Given the description of an element on the screen output the (x, y) to click on. 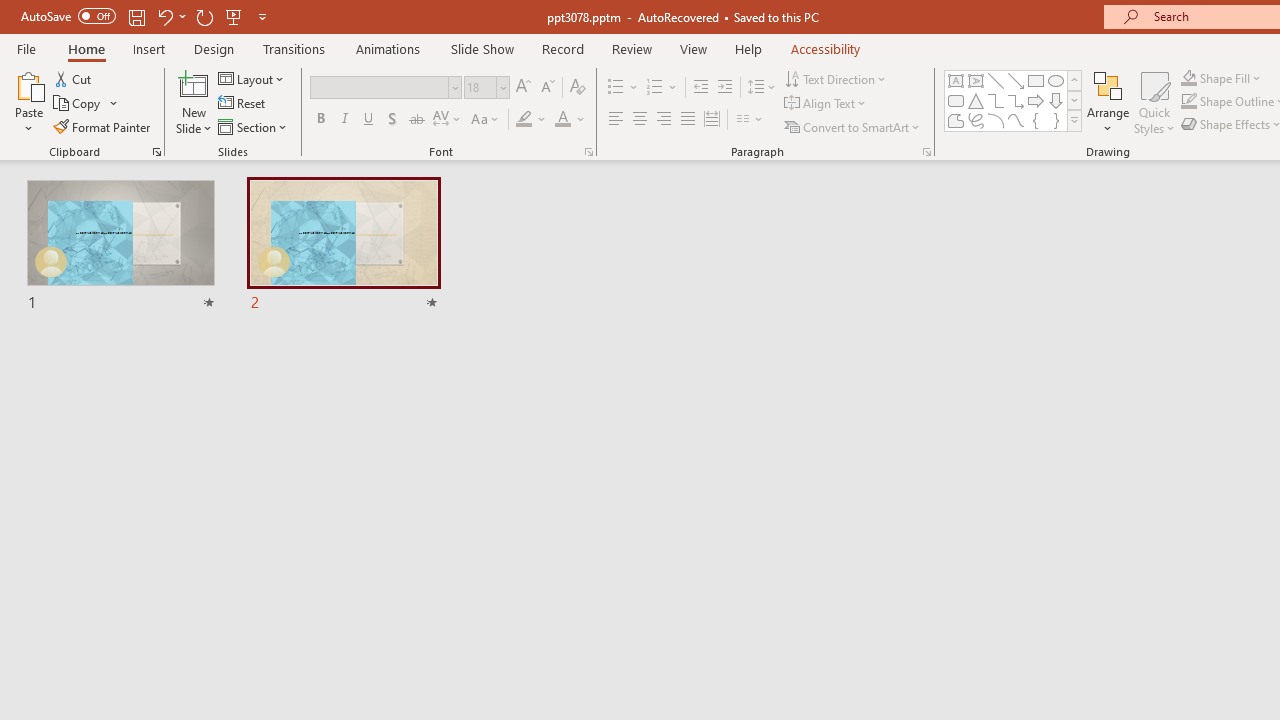
Shape Fill (1221, 78)
Center (639, 119)
Strikethrough (416, 119)
Decrease Indent (700, 87)
Undo (164, 15)
New Slide (193, 84)
Underline (369, 119)
Right Brace (1055, 120)
Clear Formatting (577, 87)
Slide (344, 246)
Shape Outline Green, Accent 1 (1188, 101)
Design (214, 48)
Arrange (1108, 102)
Quick Styles (1154, 102)
Copy (78, 103)
